Given the description of an element on the screen output the (x, y) to click on. 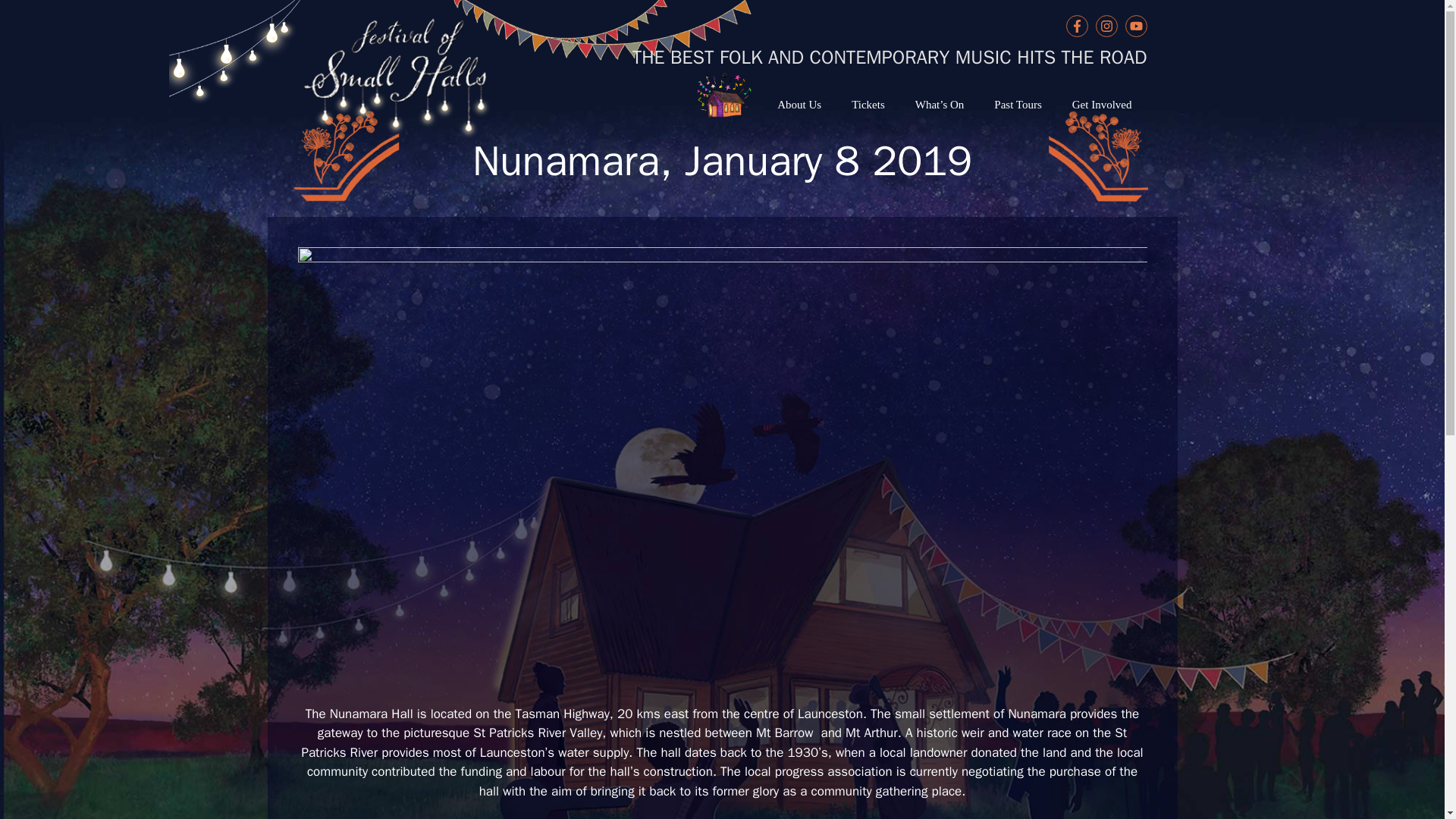
Tickets (867, 104)
Past Tours (1017, 104)
Get Involved (1102, 104)
About Us (798, 104)
